Given the description of an element on the screen output the (x, y) to click on. 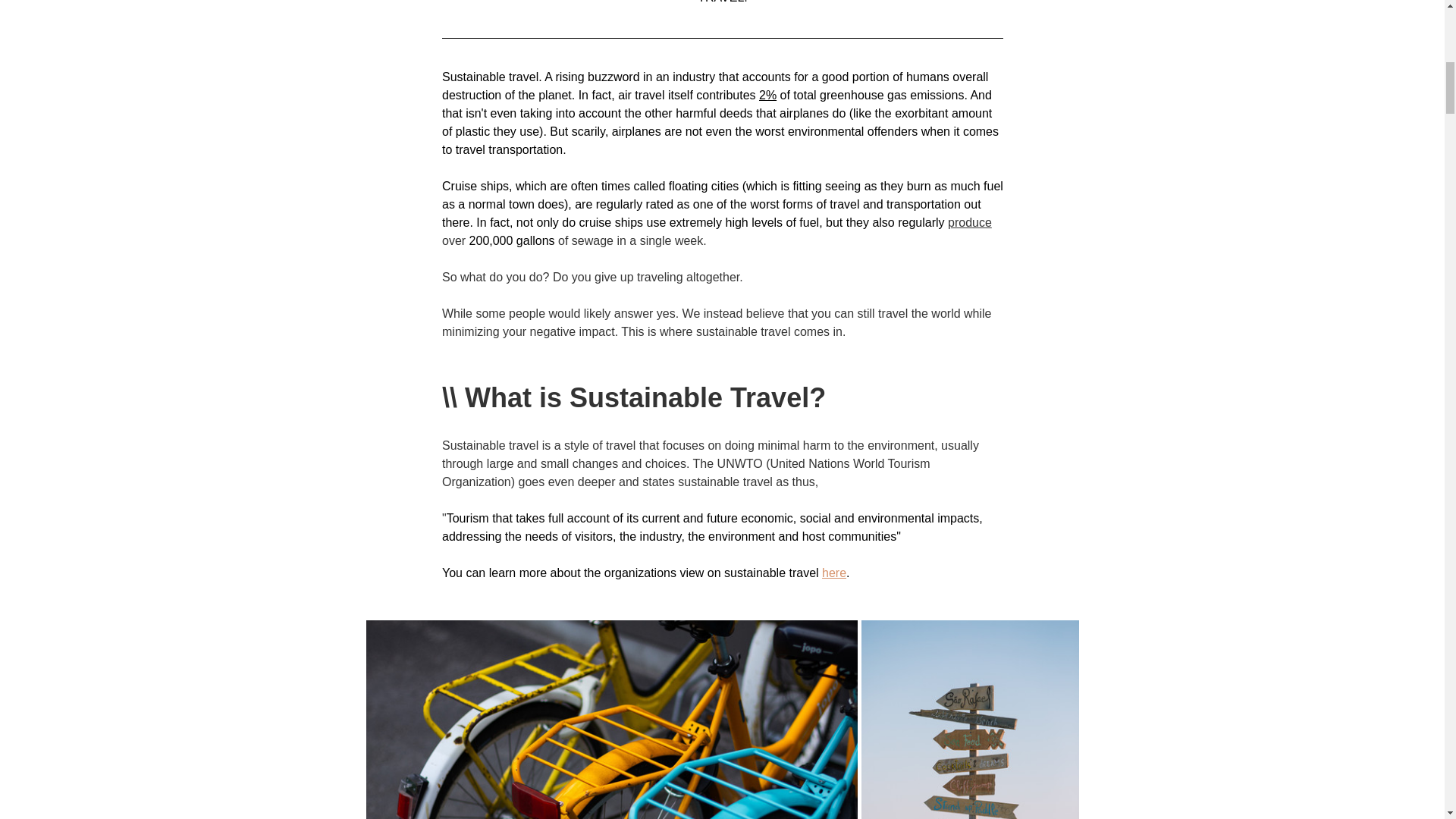
here (833, 572)
produce (969, 222)
